Given the description of an element on the screen output the (x, y) to click on. 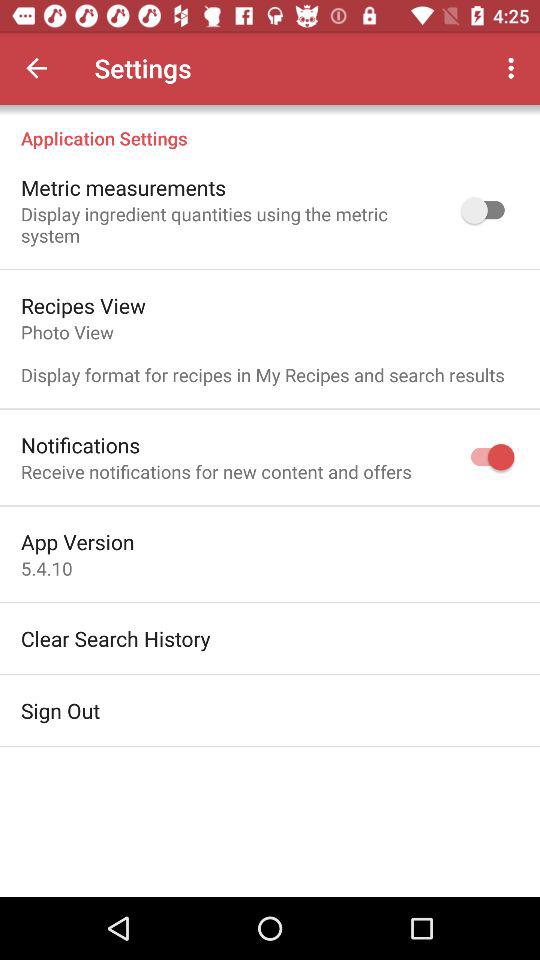
choose clear search history (115, 638)
